Given the description of an element on the screen output the (x, y) to click on. 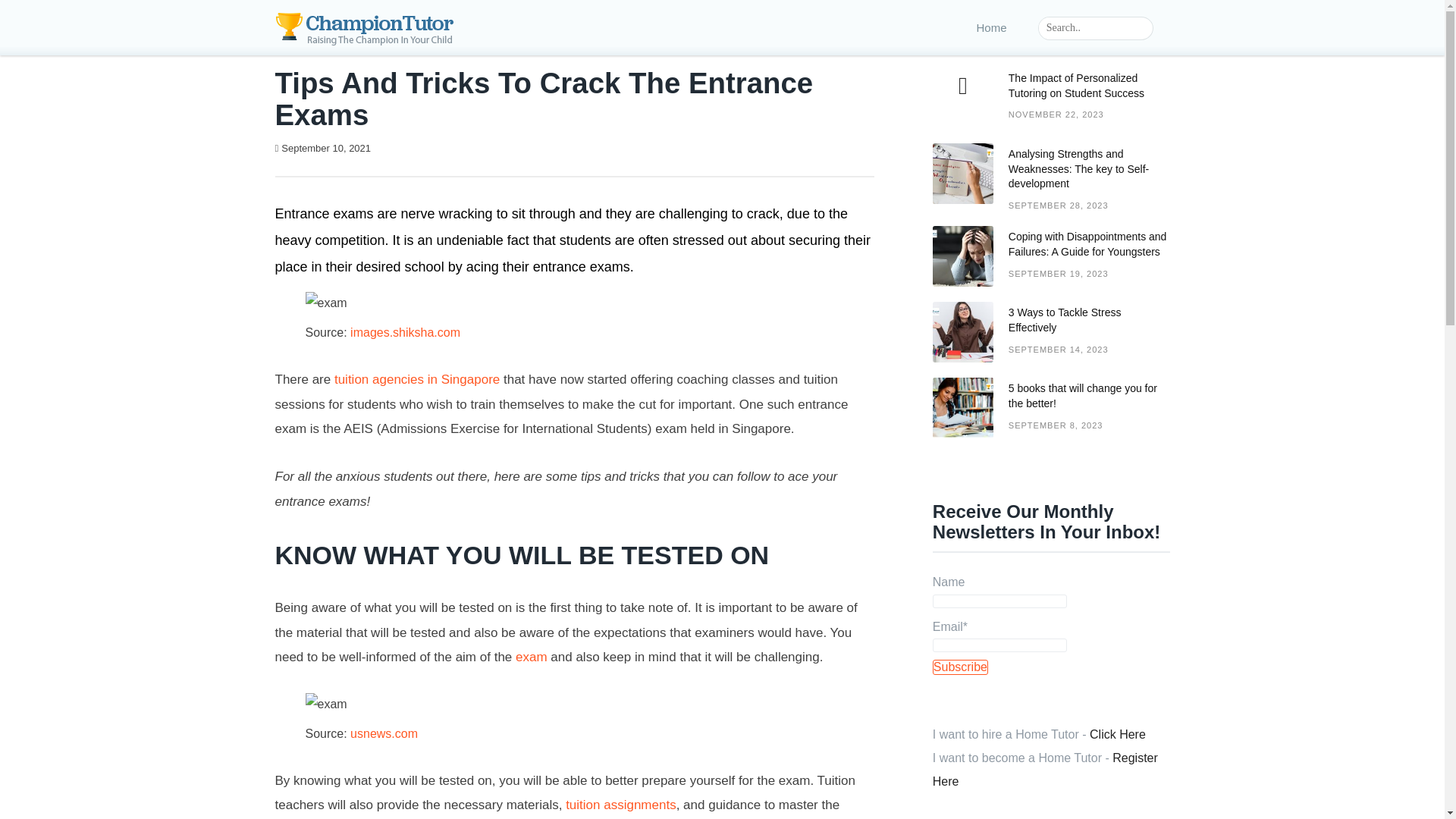
tuition assignments (1051, 339)
Dave Tan (621, 804)
The Impact of Personalized Tutoring on Student Success (408, 147)
Click Here (1051, 105)
images.shiksha.com (1117, 734)
Subscribe (405, 332)
September 10, 2021 (960, 667)
Subscribe (326, 147)
tuition agencies in Singapore (960, 667)
5 books that will change you for the better! (416, 379)
